Given the description of an element on the screen output the (x, y) to click on. 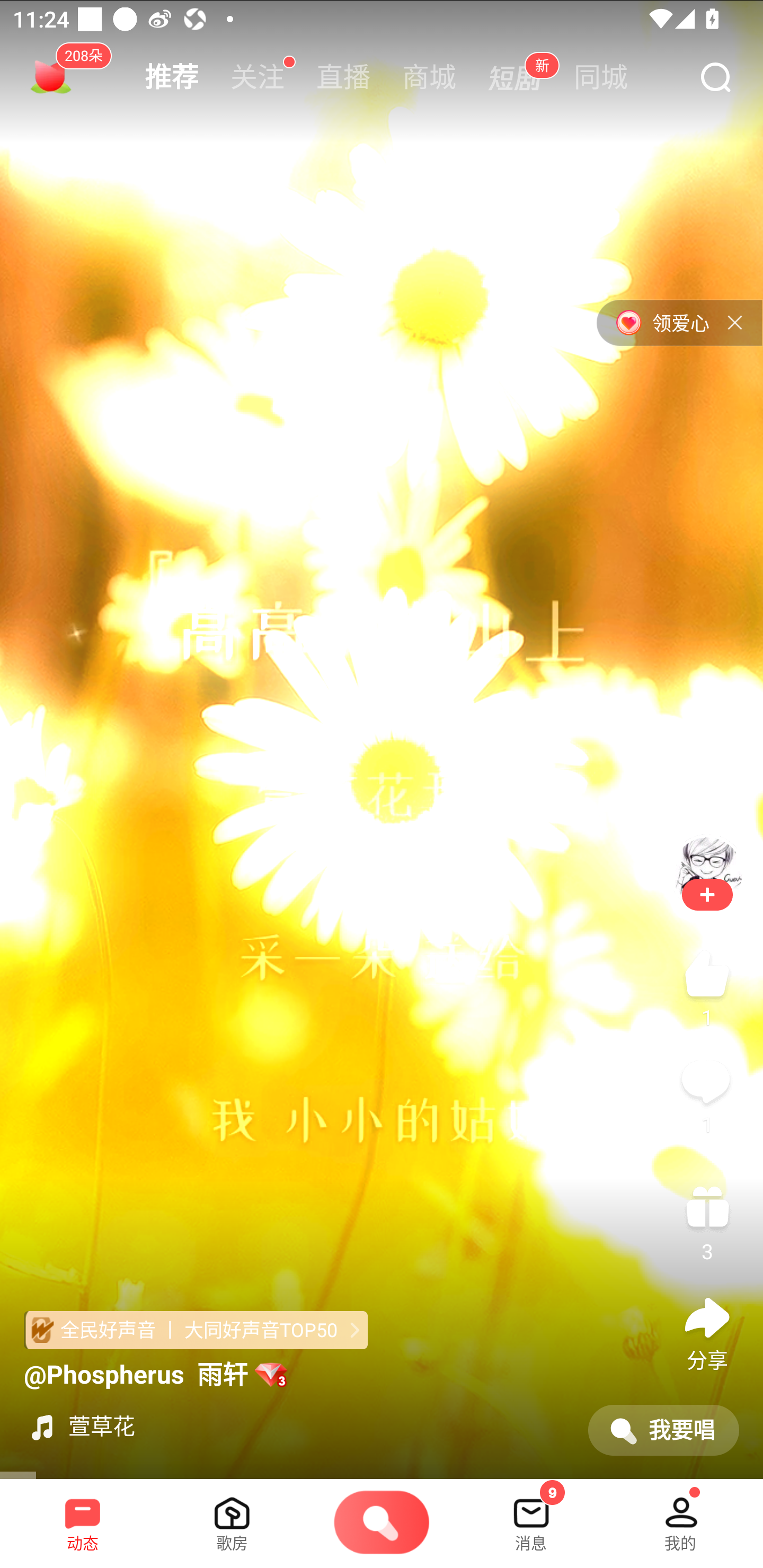
推荐 (171, 77)
关注 (257, 77)
直播 (343, 77)
商城 (429, 77)
同城 (600, 77)
任务中心 (50, 77)
搜索 (714, 78)
头像 (707, 872)
关注 (706, 894)
点赞1 1 (706, 986)
评论1 1 (706, 1092)
送礼3 3 (706, 1220)
分享 (706, 1329)
全民好声音 丨 大同好声音TOP50 (195, 1329)
@Phospherus  雨轩   (155, 1374)
萱草花 (297, 1426)
我要唱 (663, 1429)
已选中动态 (82, 1516)
未选中歌房 (231, 1516)
未选中录歌 (381, 1523)
未选中消息 (530, 1516)
未选中我的 (680, 1516)
